Given the description of an element on the screen output the (x, y) to click on. 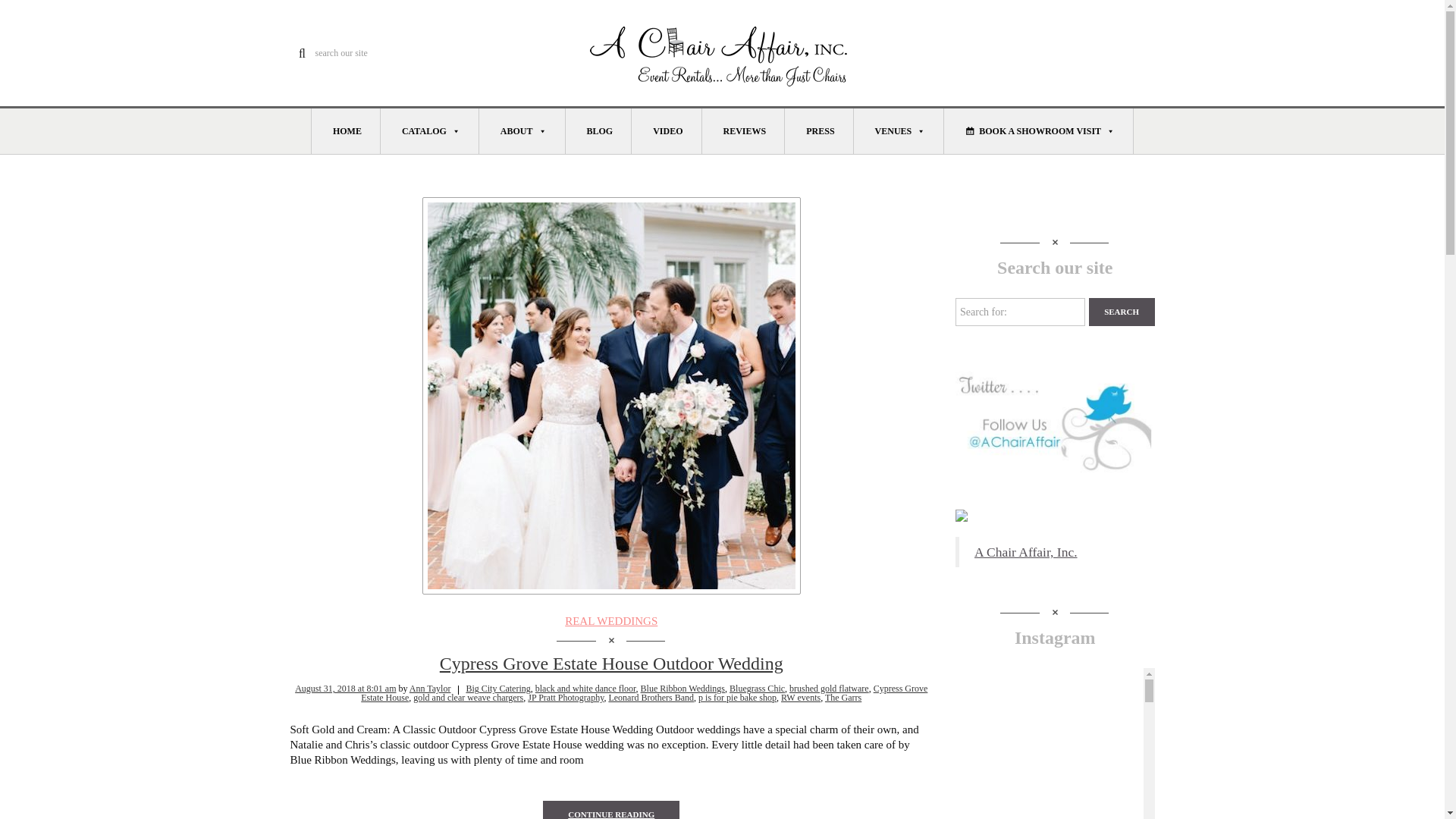
BLOG (598, 130)
Search (1121, 311)
VENUES (898, 130)
ABOUT (522, 130)
CATALOG (429, 130)
REVIEWS (743, 130)
VIDEO (666, 130)
PRESS (818, 130)
HOME (345, 130)
